Given the description of an element on the screen output the (x, y) to click on. 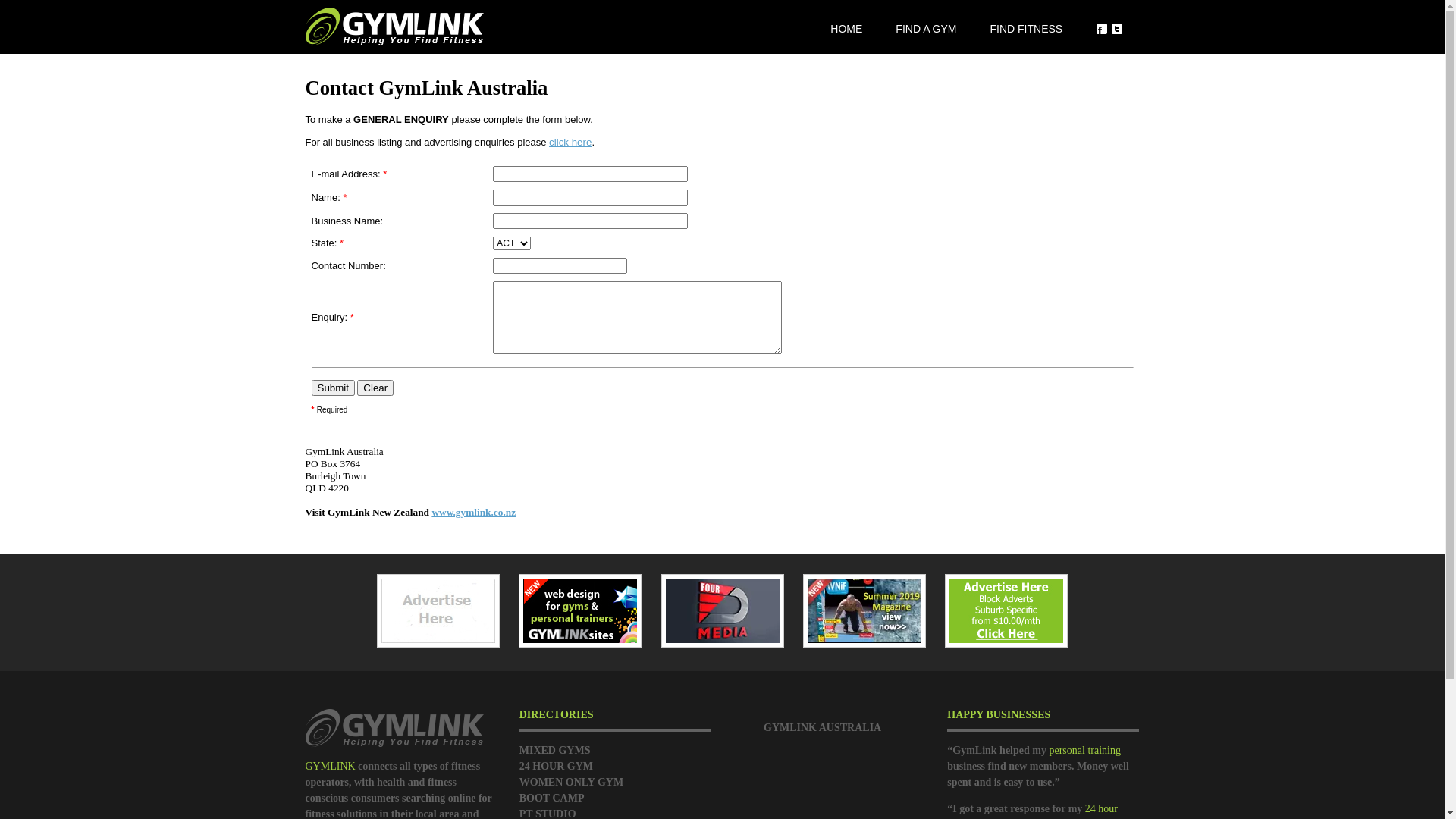
www.gymlink.co.nz Element type: text (473, 511)
FIND FITNESS Element type: text (1025, 28)
GYMLINK AUSTRALIA Element type: text (822, 727)
FIND A GYM Element type: text (925, 28)
click here Element type: text (570, 141)
WOMEN ONLY GYM Element type: text (571, 781)
BOOT CAMP Element type: text (551, 797)
MIXED GYMS Element type: text (554, 750)
WNiF Summer 2019 Edition - View the digital edition Element type: hover (864, 610)
Submit Element type: text (332, 387)
HOME Element type: text (846, 28)
24 HOUR GYM Element type: text (556, 765)
